Given the description of an element on the screen output the (x, y) to click on. 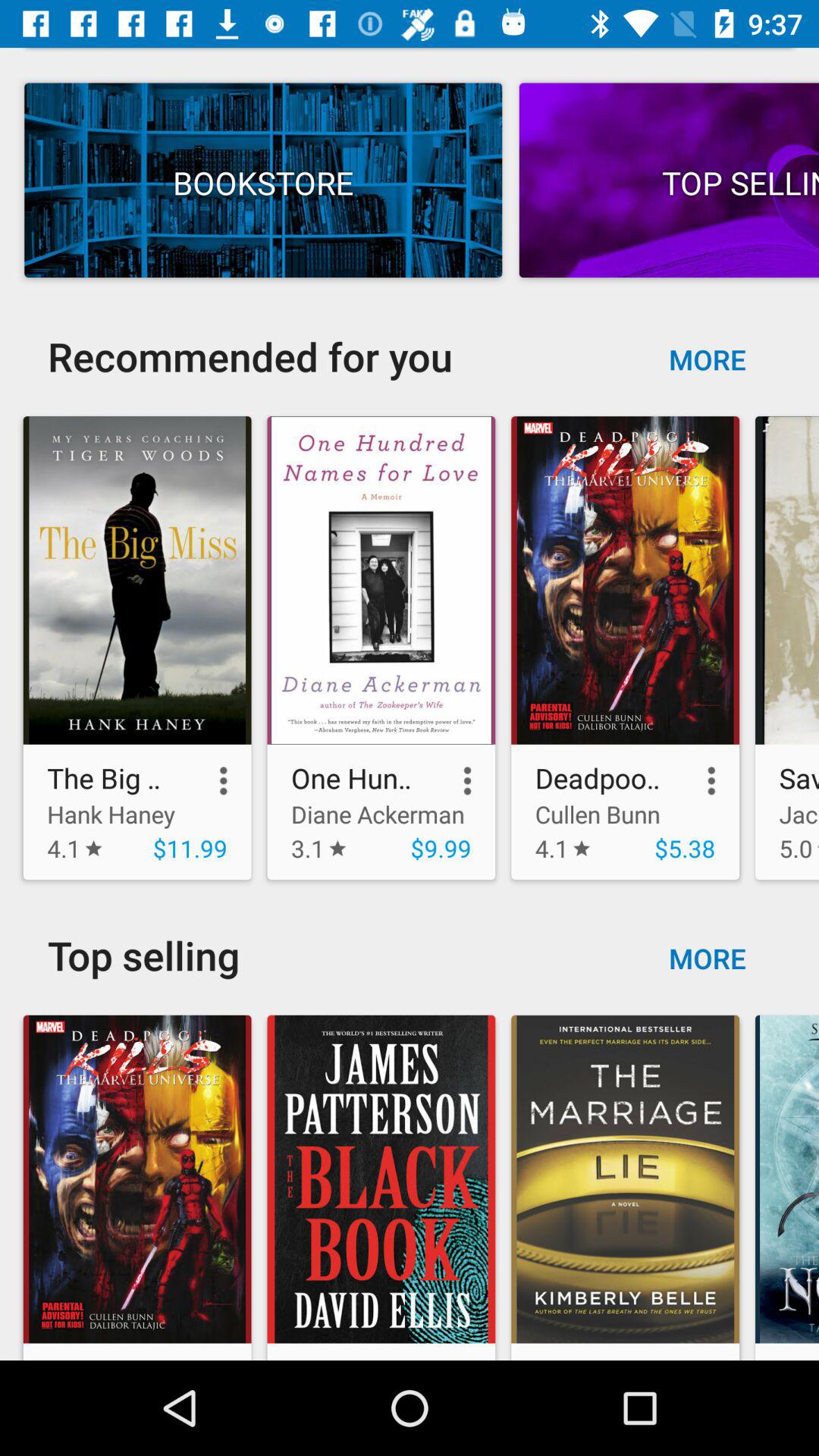
select the second image which is below the top selling (381, 1183)
select third image under top selling at bottom (625, 1178)
click on book one hundred names for love (381, 580)
the forth image below to the first text of more (783, 648)
select the first image under recommended for you (137, 648)
